Given the description of an element on the screen output the (x, y) to click on. 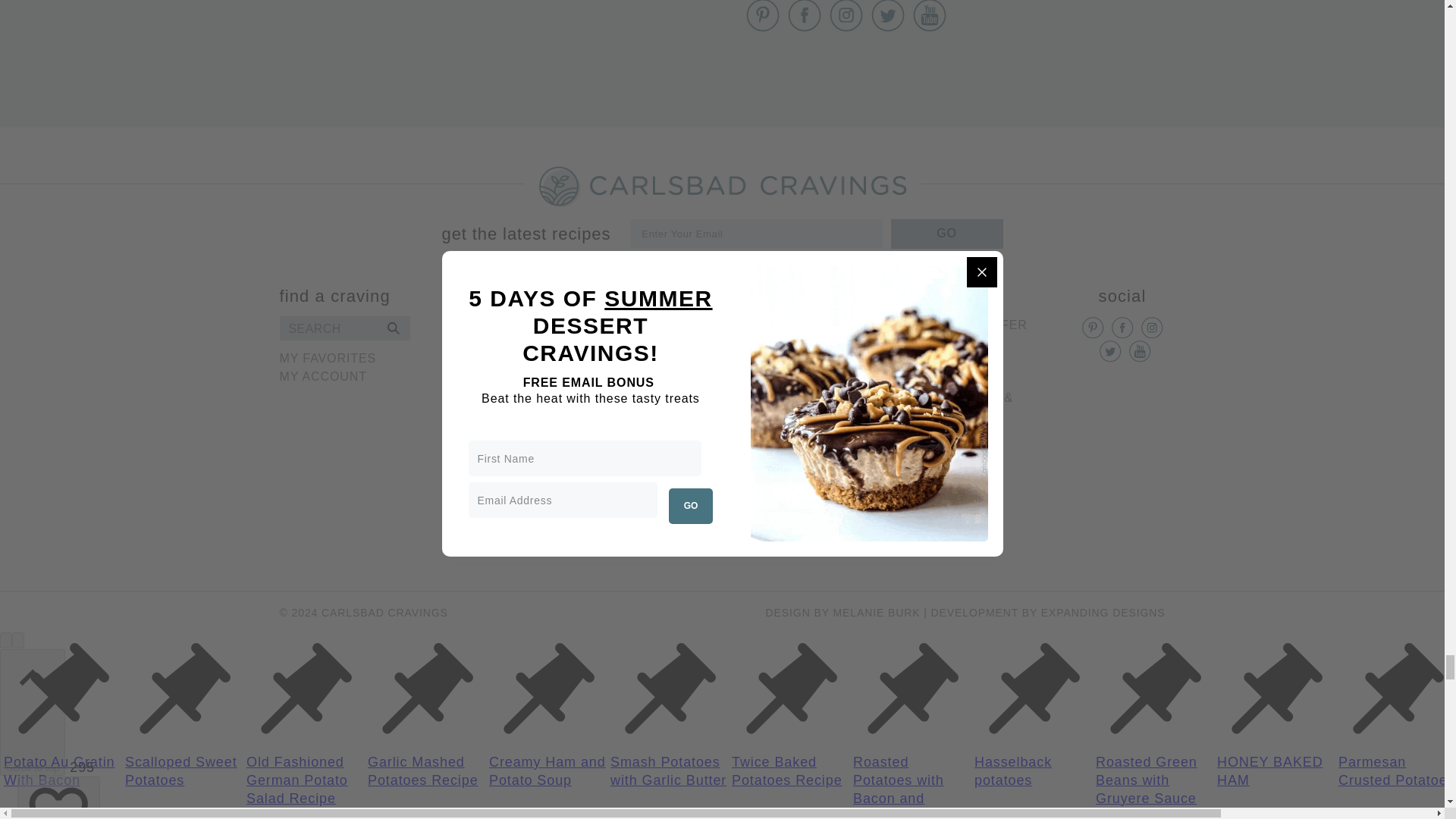
Search for (344, 328)
